Given the description of an element on the screen output the (x, y) to click on. 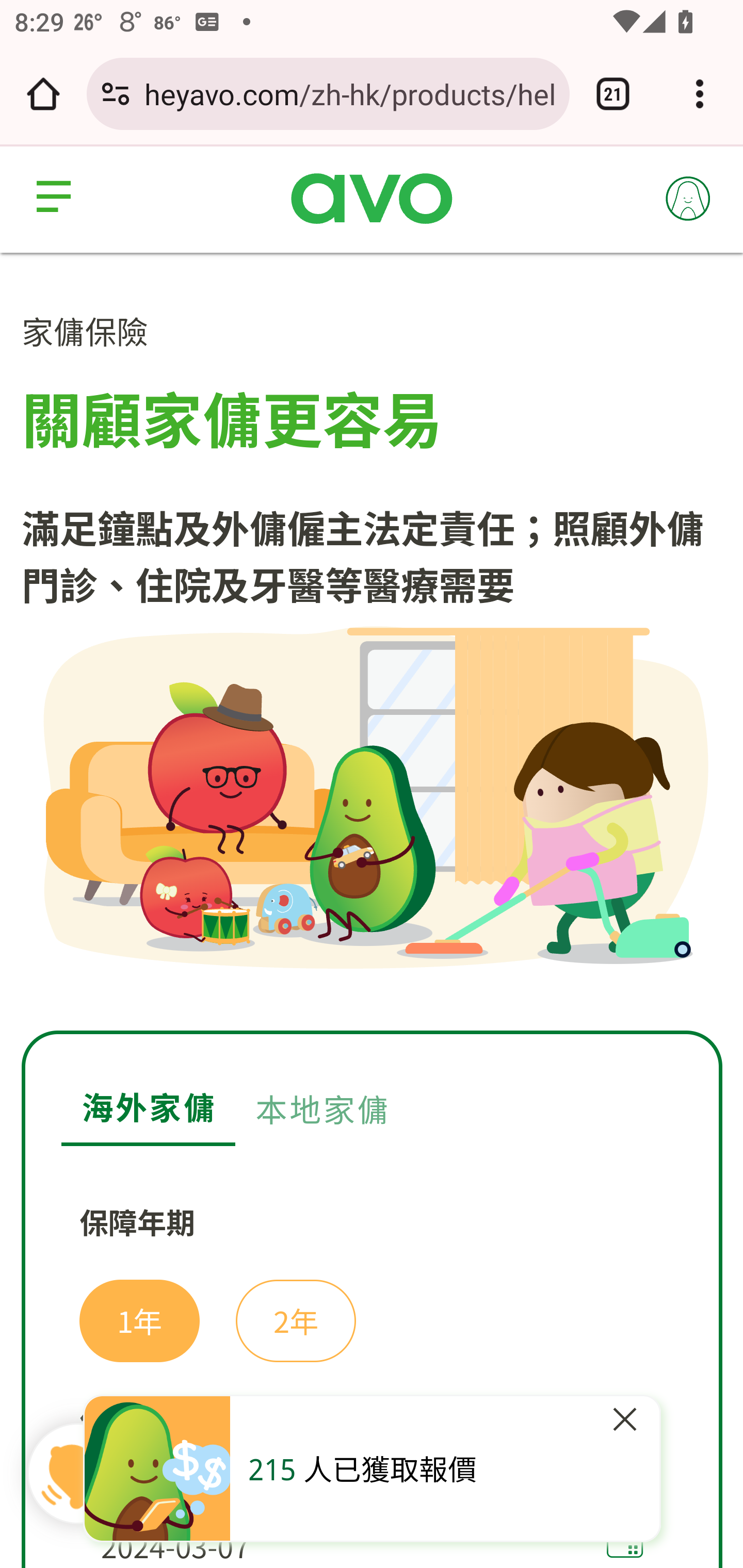
Open the home page (43, 93)
Connection is secure (115, 93)
Switch or close tabs (612, 93)
Customize and control Google Chrome (699, 93)
menu.afb2dfa (56, 198)
Avo Profile (688, 198)
www.heyavo (371, 199)
海外家傭 (148, 1090)
本地家傭 (321, 1089)
215 人已獲取報價 (362, 1467)
